Given the description of an element on the screen output the (x, y) to click on. 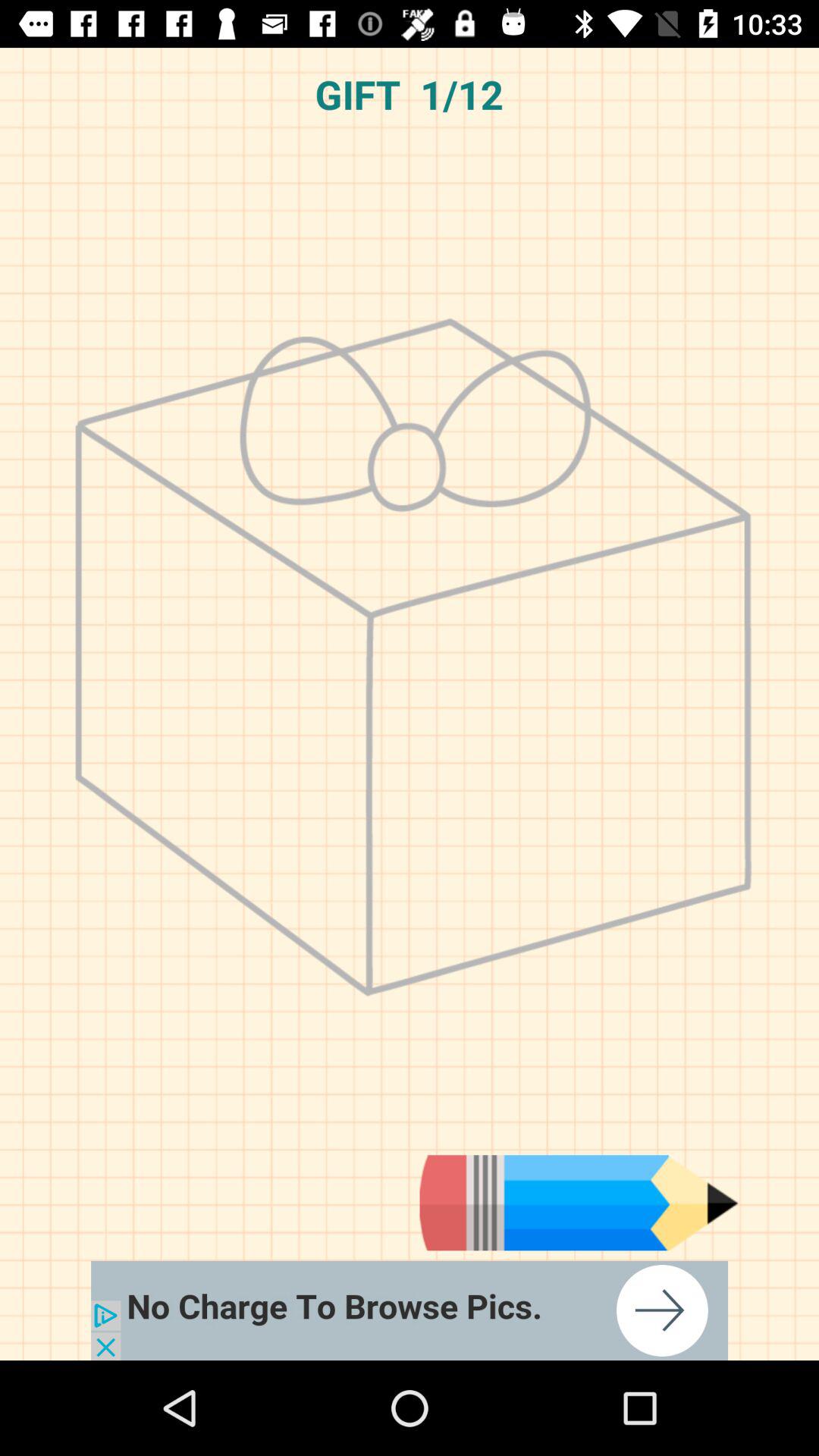
open an advertisement (409, 1310)
